Given the description of an element on the screen output the (x, y) to click on. 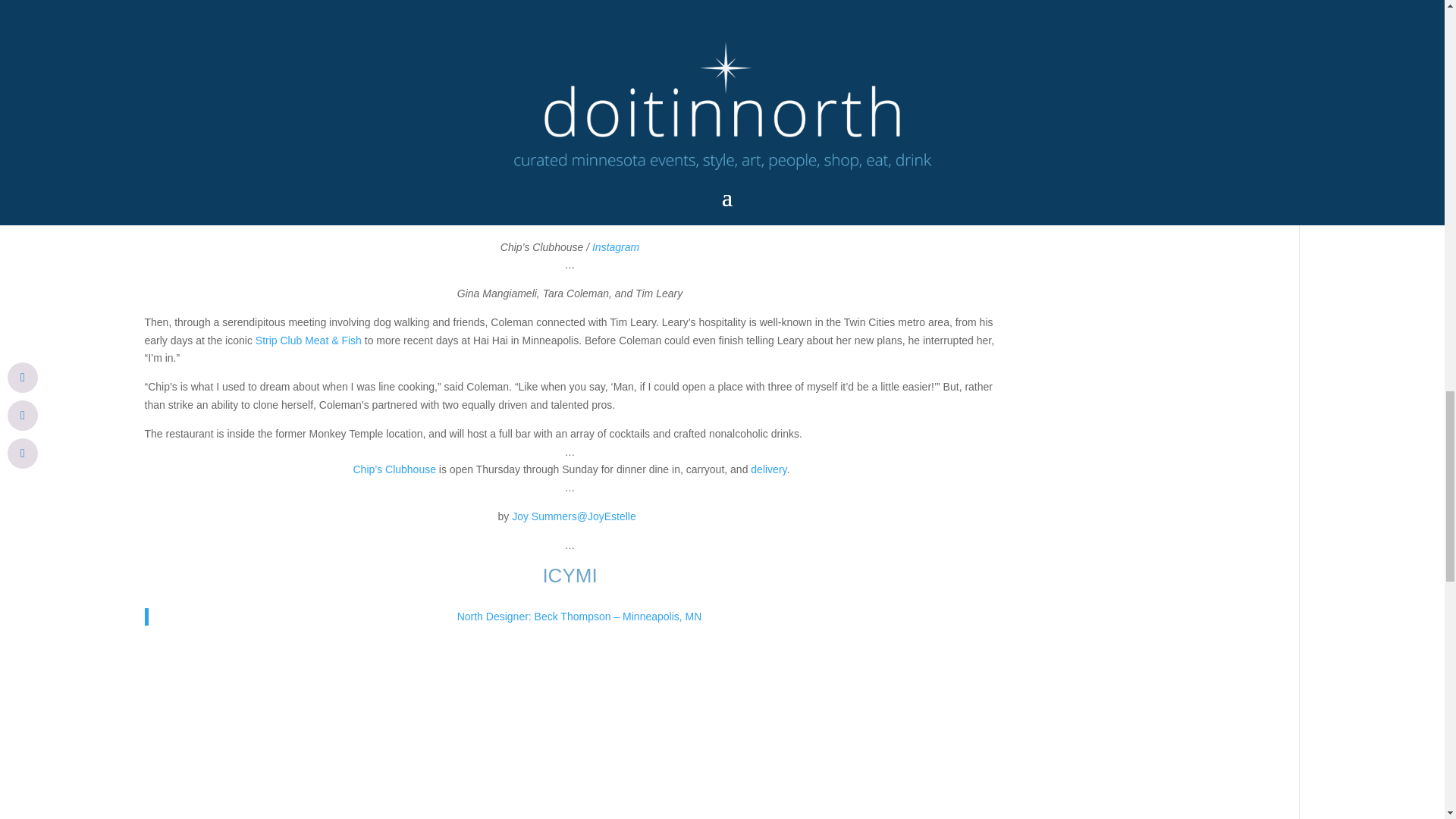
delivery (768, 469)
Joy Summers (544, 516)
Instagram (615, 246)
